Given the description of an element on the screen output the (x, y) to click on. 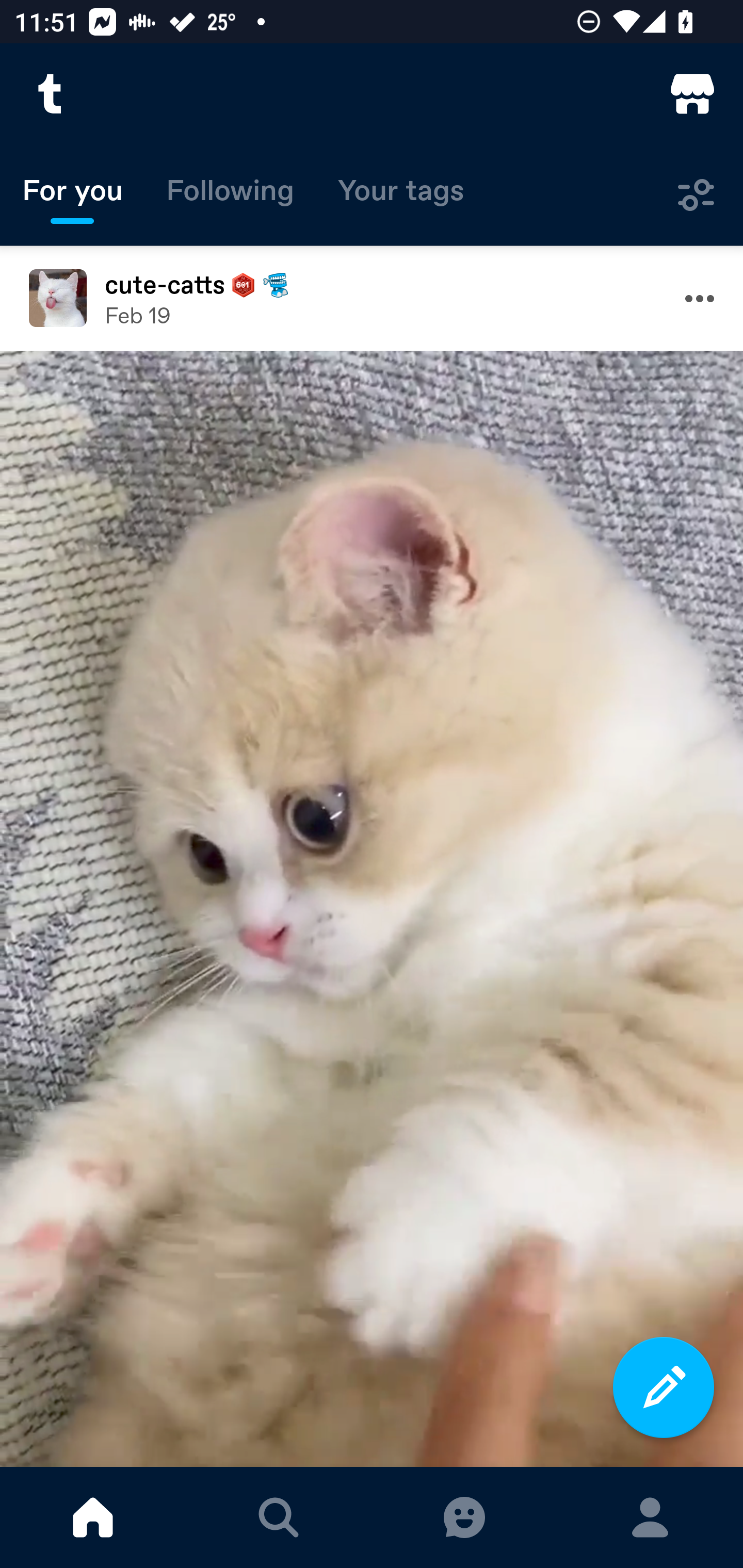
Tumblr (50, 93)
TumblrMart (692, 94)
Following (230, 195)
Your tags (400, 195)
Avatar frame cute-catts imgimg   cute-catts Feb 19 (371, 298)
Compose a new post (663, 1387)
DASHBOARD (92, 1517)
EXPLORE (278, 1517)
MESSAGES (464, 1517)
ACCOUNT (650, 1517)
